Given the description of an element on the screen output the (x, y) to click on. 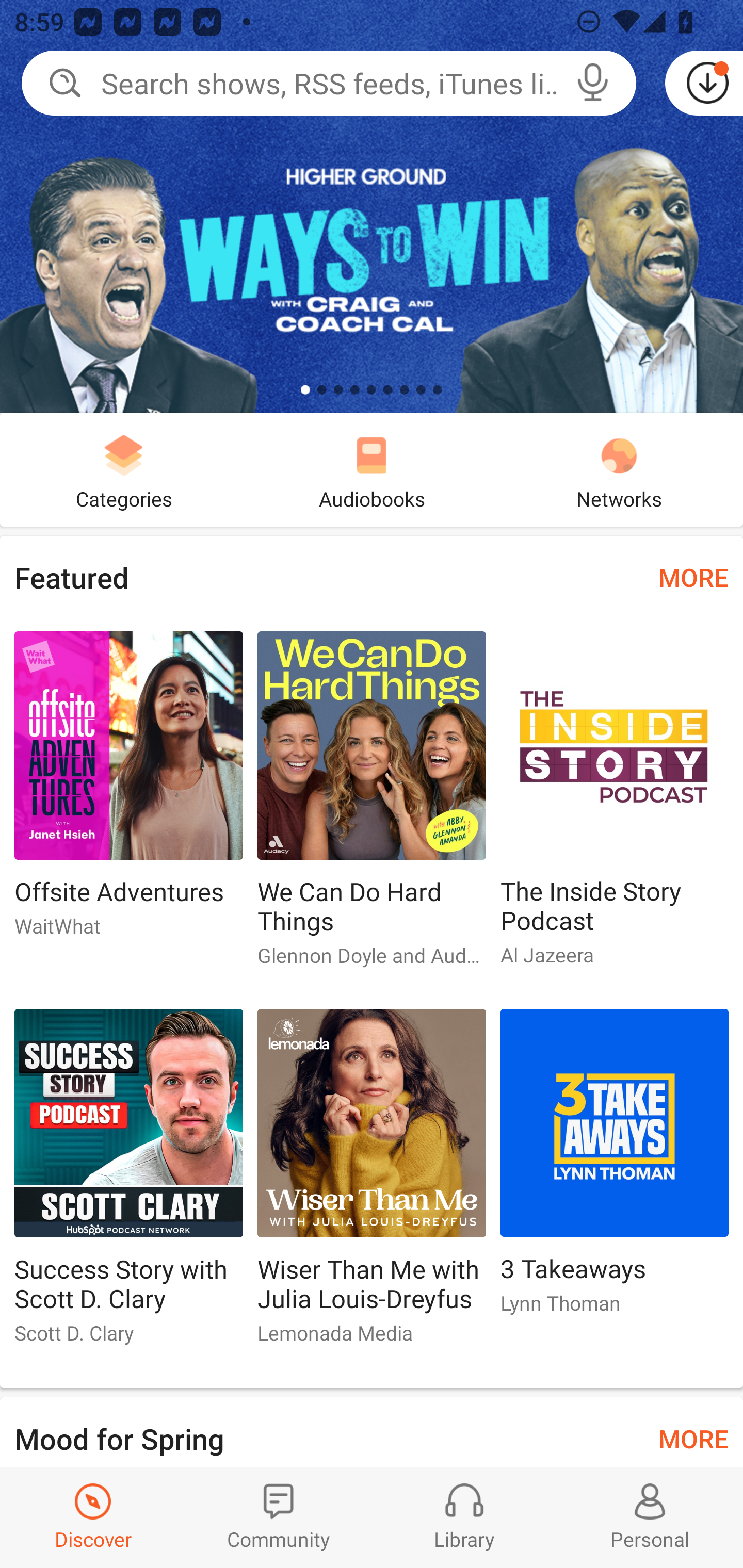
Ways To Win (371, 206)
Categories (123, 469)
Audiobooks (371, 469)
Networks (619, 469)
MORE (693, 576)
Offsite Adventures Offsite Adventures WaitWhat (128, 792)
3 Takeaways 3 Takeaways Lynn Thoman (614, 1169)
MORE (693, 1436)
Discover (92, 1517)
Community (278, 1517)
Library (464, 1517)
Profiles and Settings Personal (650, 1517)
